Given the description of an element on the screen output the (x, y) to click on. 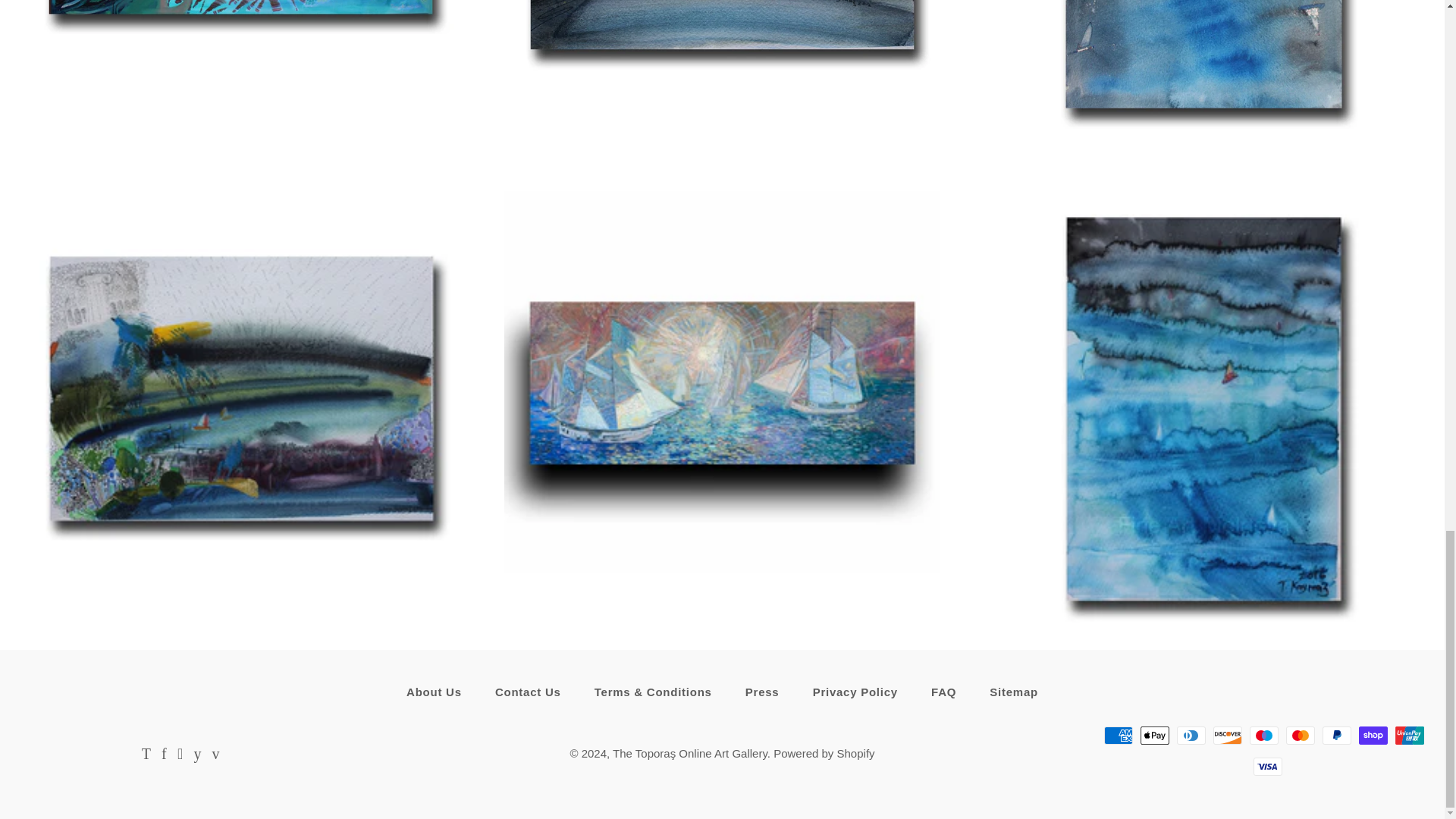
PayPal (1336, 735)
Discover (1226, 735)
Shop Pay (1372, 735)
Apple Pay (1154, 735)
Diners Club (1190, 735)
Mastercard (1299, 735)
Union Pay (1408, 735)
Visa (1267, 766)
Maestro (1263, 735)
American Express (1117, 735)
